Given the description of an element on the screen output the (x, y) to click on. 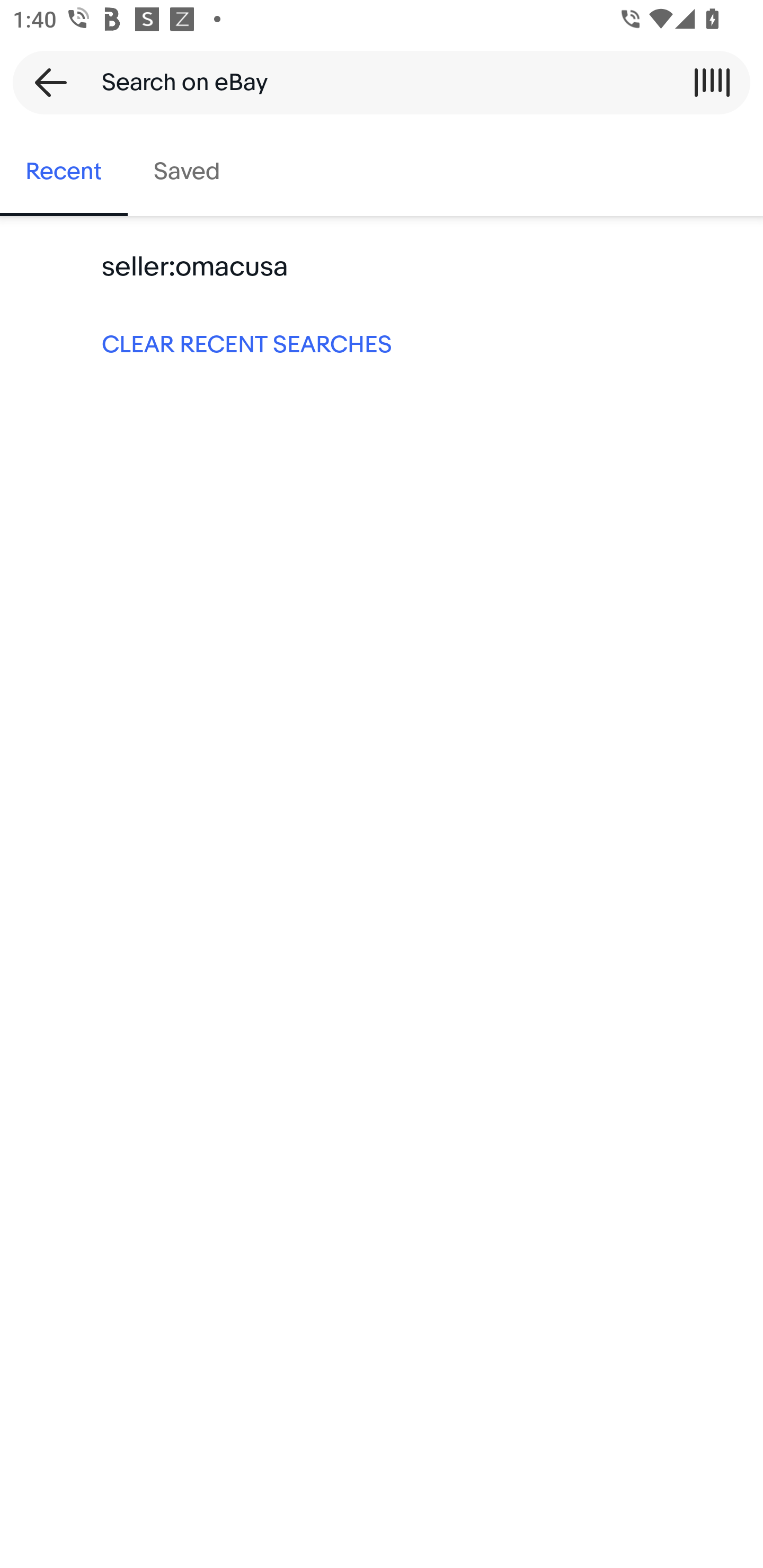
Back (44, 82)
Scan a barcode (711, 82)
Search on eBay (375, 82)
Saved, tab 2 of 2 Saved (186, 171)
seller:omacusa Keyword search seller:omacusa: (381, 266)
CLEAR RECENT SEARCHES (381, 343)
